Given the description of an element on the screen output the (x, y) to click on. 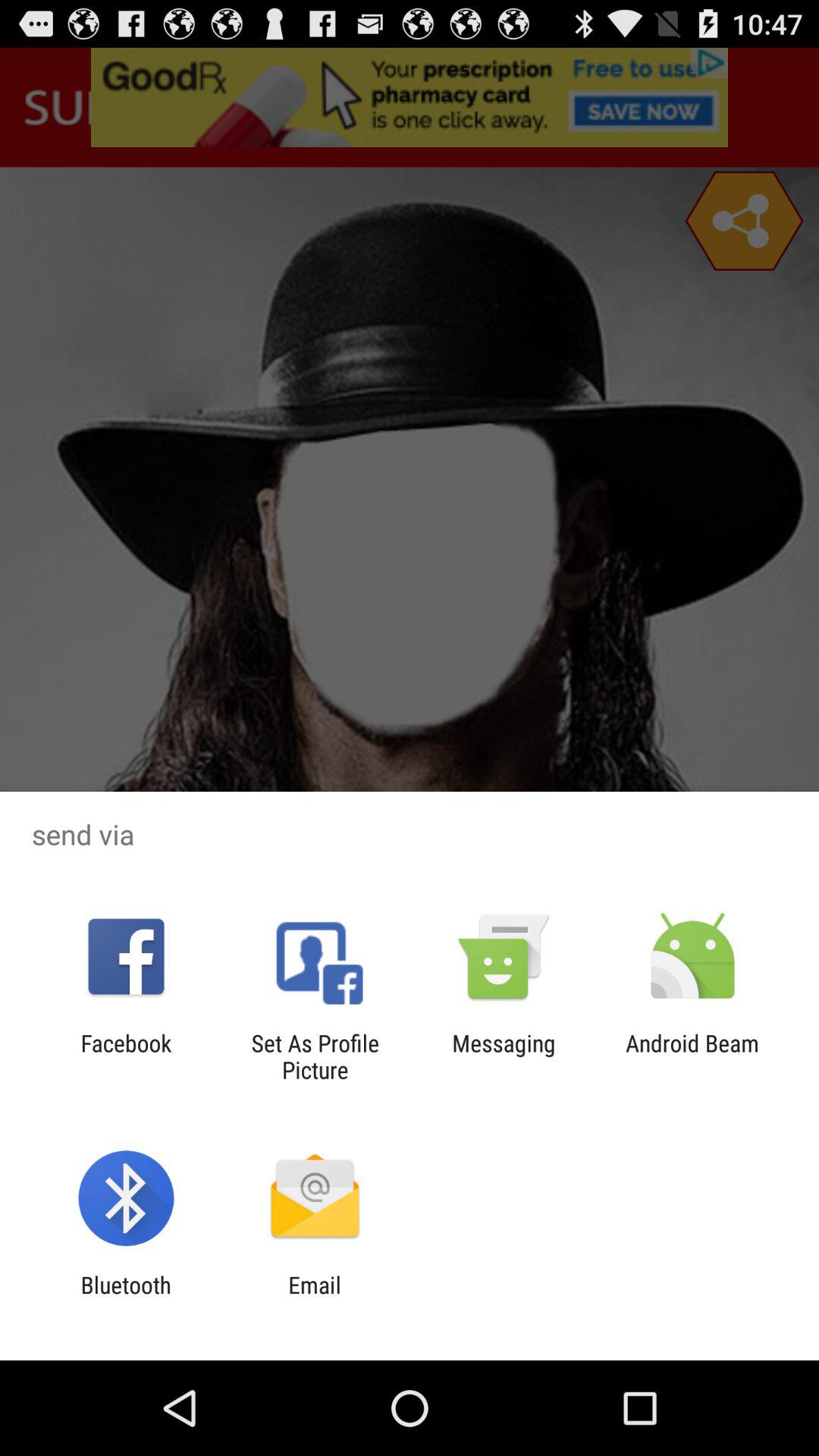
press the icon to the right of set as profile app (503, 1056)
